Given the description of an element on the screen output the (x, y) to click on. 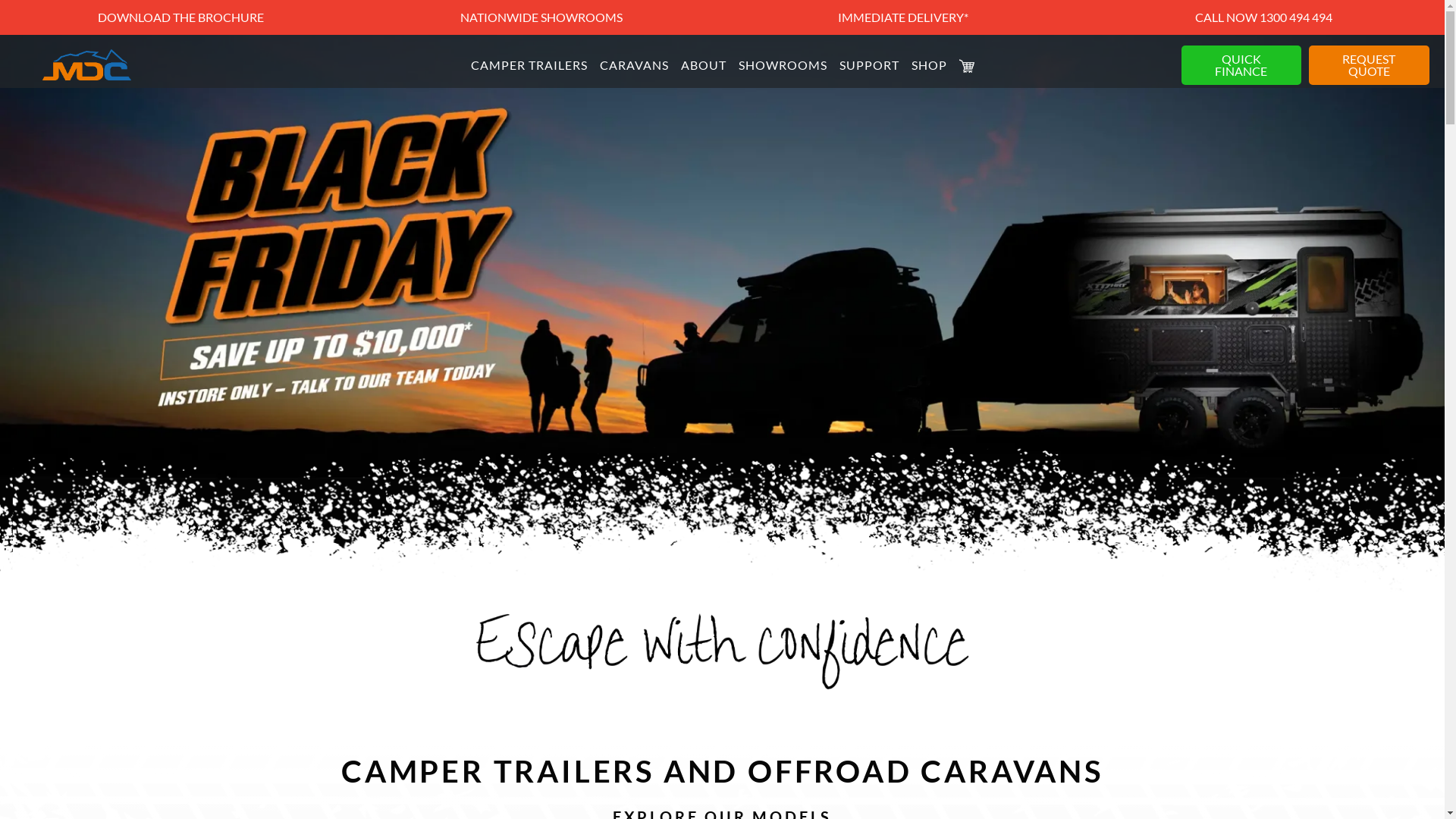
SHOWROOMS Element type: text (782, 64)
CARAVANS Element type: text (633, 64)
ABOUT Element type: text (703, 64)
REQUEST QUOTE Element type: text (1368, 64)
SUPPORT Element type: text (868, 64)
QUICK FINANCE Element type: text (1241, 64)
SHOP Element type: text (965, 64)
CAMPER TRAILERS Element type: text (528, 64)
SHOP Element type: text (929, 64)
